Given the description of an element on the screen output the (x, y) to click on. 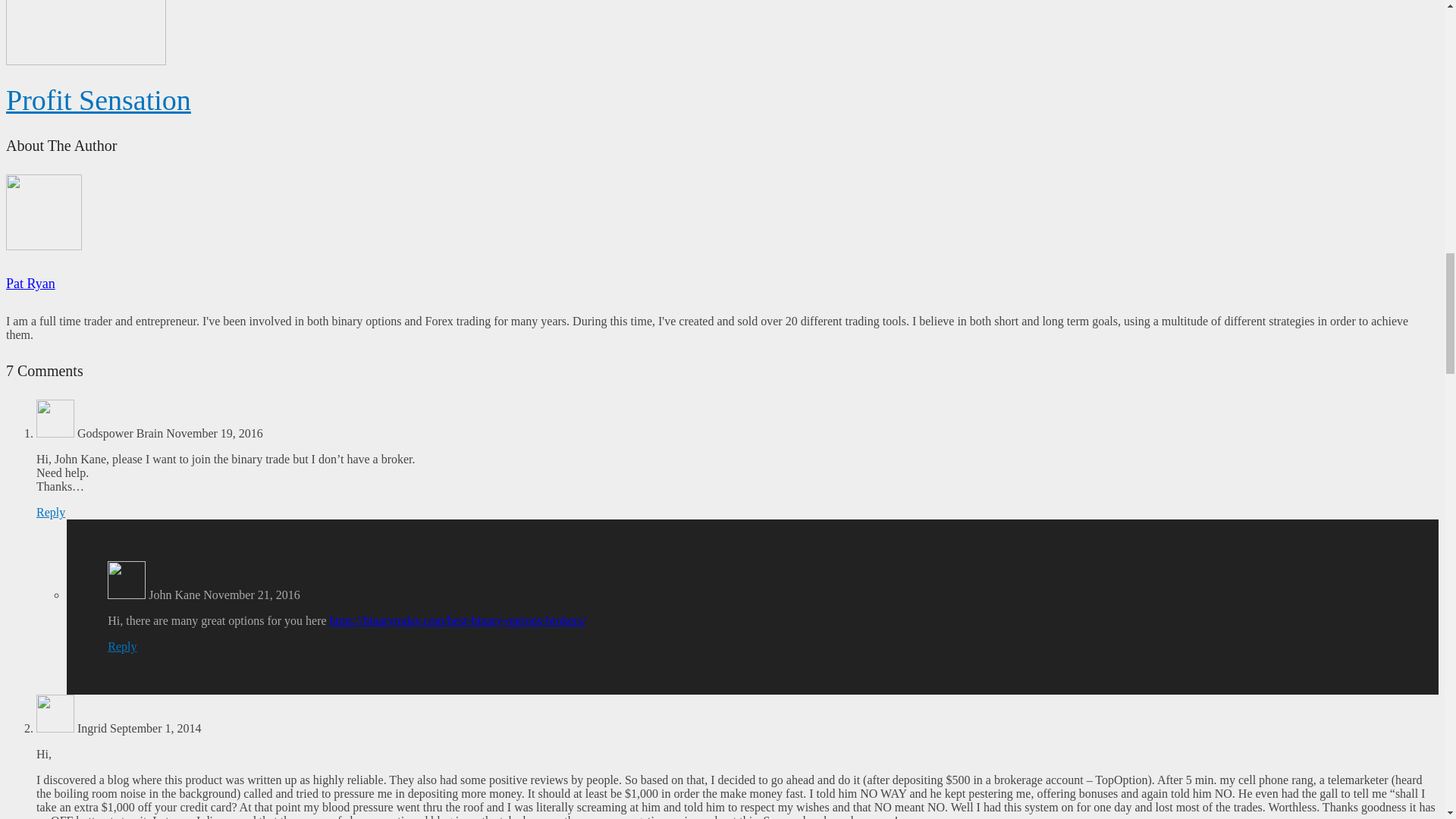
Profit Sensation (97, 100)
Pat Ryan (30, 283)
Profit Sensation (97, 100)
Reply (50, 512)
Reply (121, 645)
